Given the description of an element on the screen output the (x, y) to click on. 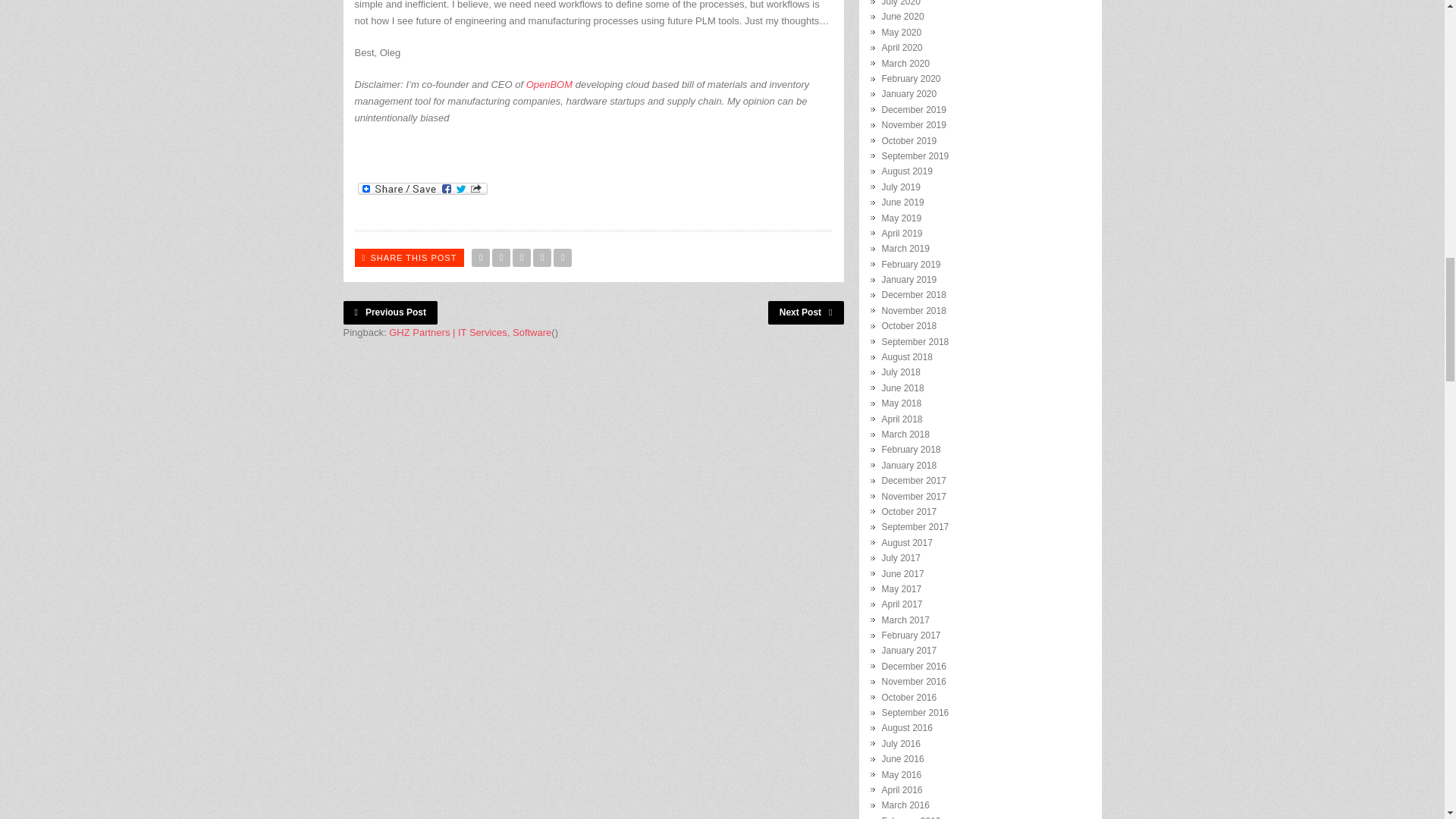
Share on Twitter (480, 257)
Share on Facebook (501, 257)
Share on Pinterest (541, 257)
OpenBOM (548, 84)
Share on LinkedIn (562, 257)
Next Post (806, 312)
Previous Post (389, 312)
